Given the description of an element on the screen output the (x, y) to click on. 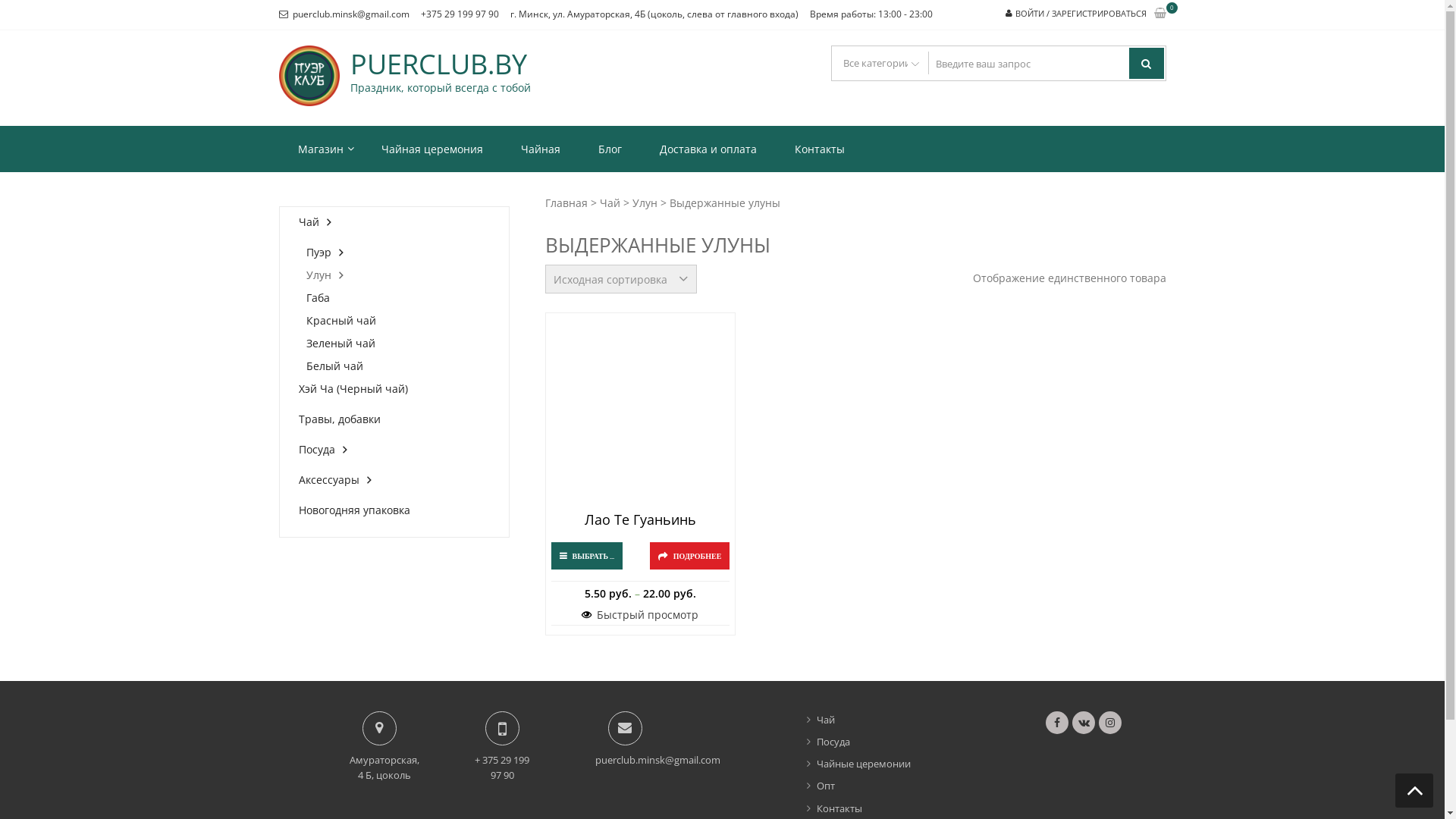
+ 375 29 199 97 90 Element type: text (501, 767)
+375 29 199 97 90 Element type: text (459, 14)
puerclub.minsk@gmail.com Element type: text (657, 759)
PUERCLUB.BY Element type: text (440, 64)
0 Element type: text (1160, 14)
puerclub.minsk@gmail.com Element type: text (350, 14)
